Given the description of an element on the screen output the (x, y) to click on. 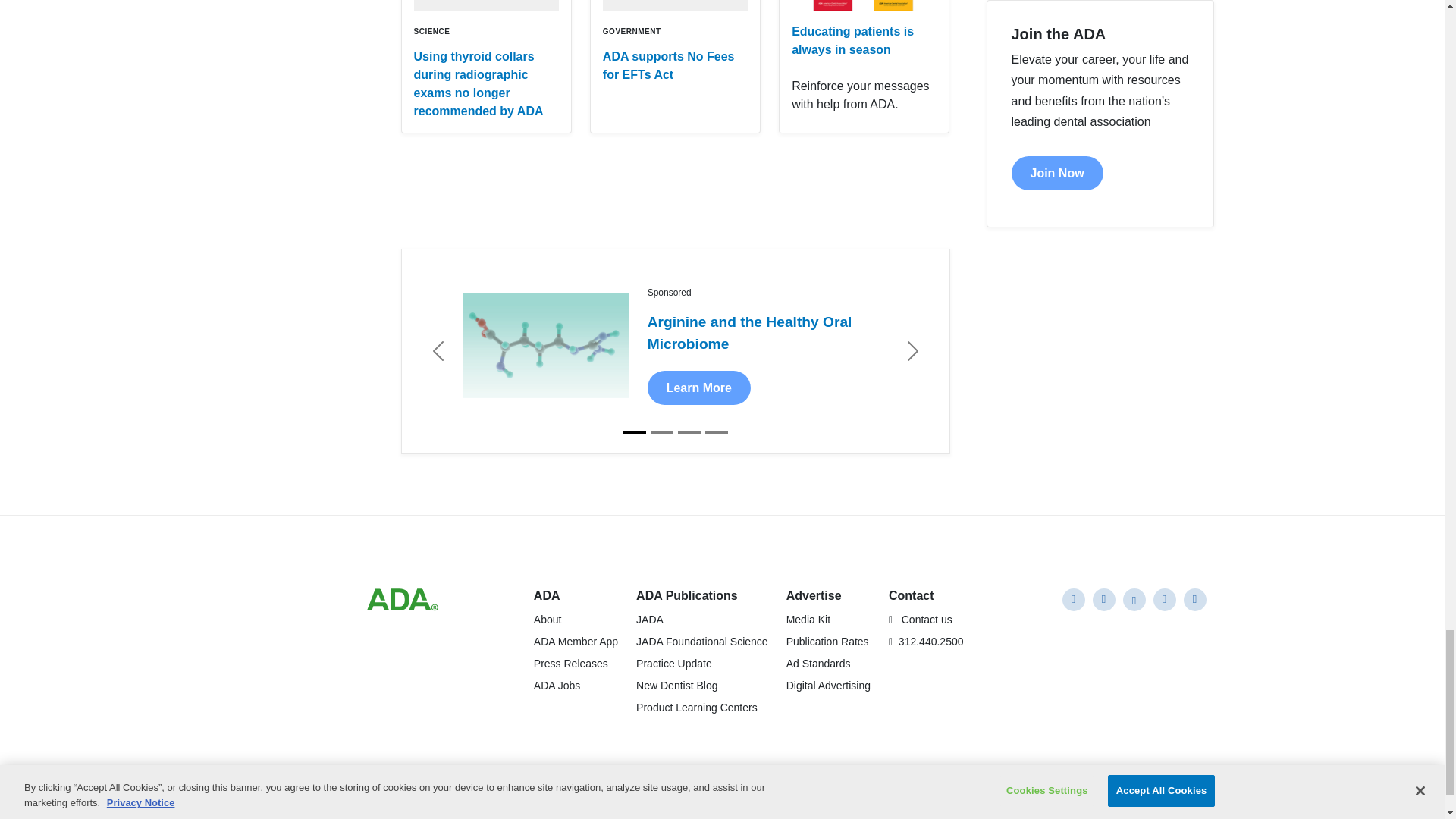
Instagram (1133, 599)
Instagram (1072, 599)
Twitter (1163, 599)
Twitter (1193, 599)
Instagram (1103, 599)
